Given the description of an element on the screen output the (x, y) to click on. 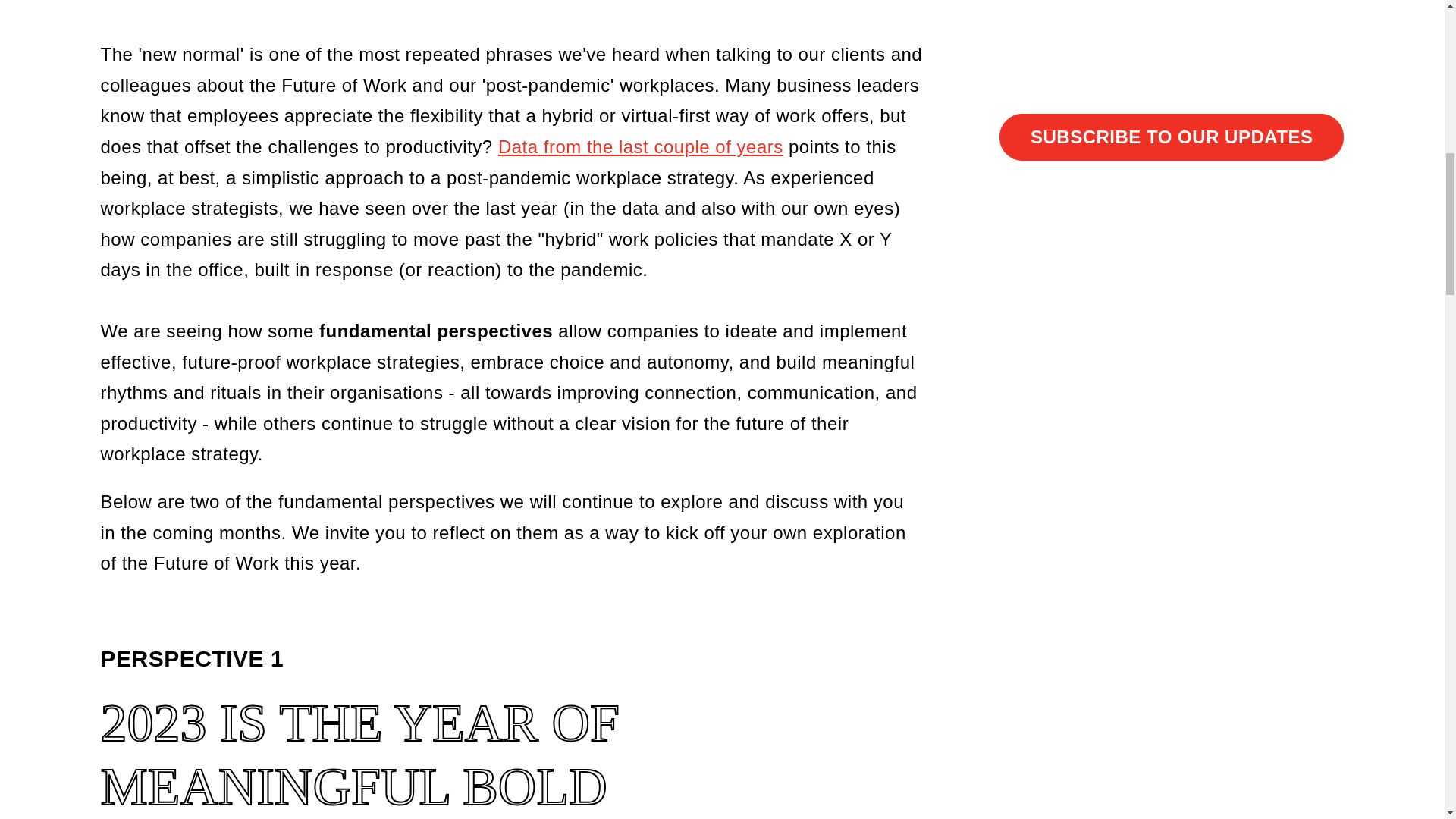
Data from the last couple of years (640, 146)
